Given the description of an element on the screen output the (x, y) to click on. 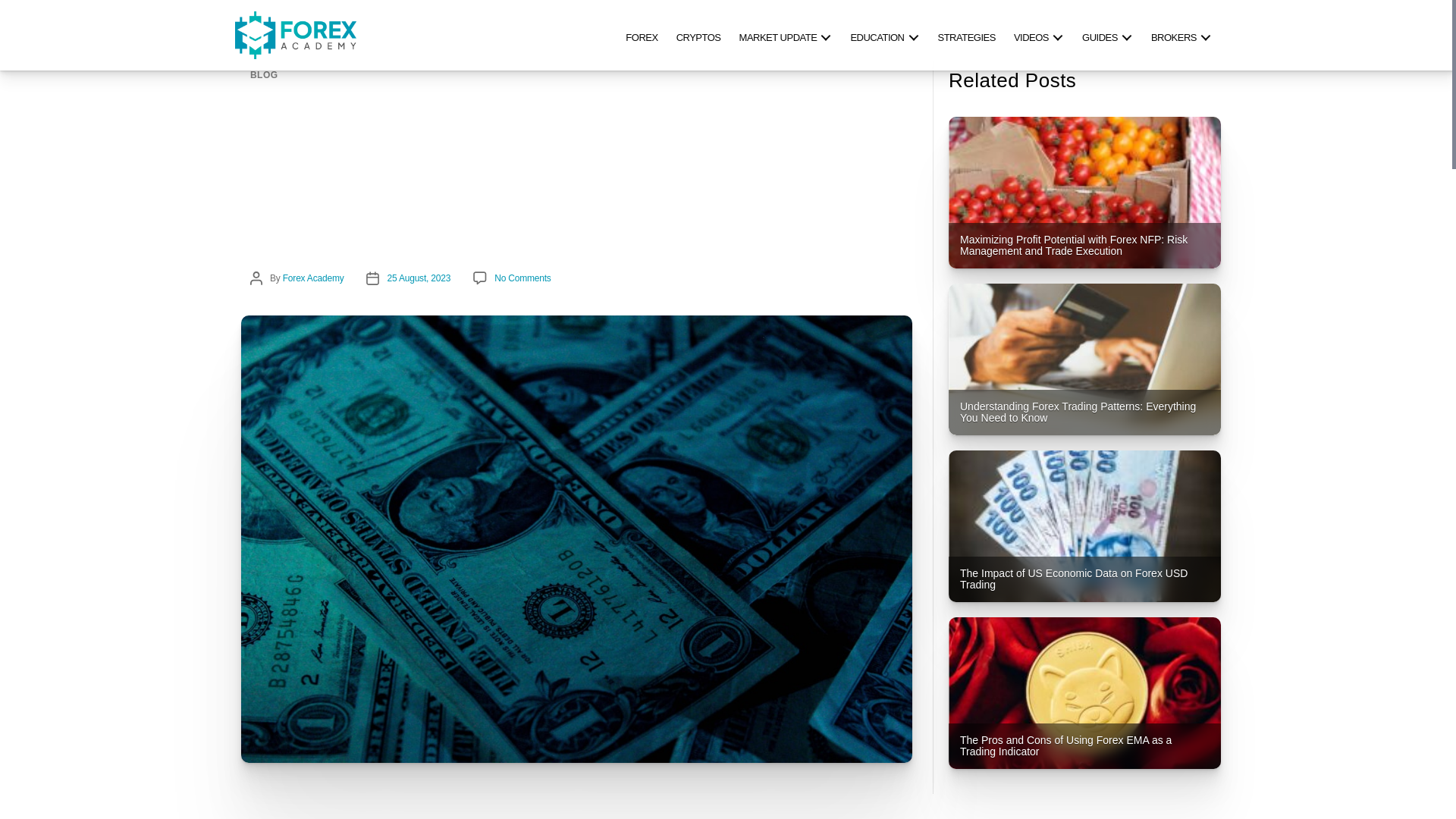
CRYPTOS (698, 35)
The Impact of US Economic Data on Forex USD Trading (1085, 525)
EDUCATION (884, 35)
MARKET UPDATE (785, 35)
The Pros and Cons of Using Forex EMA as a Trading Indicator (1085, 693)
GUIDES (1107, 35)
VIDEOS (1038, 35)
STRATEGIES (966, 35)
